Given the description of an element on the screen output the (x, y) to click on. 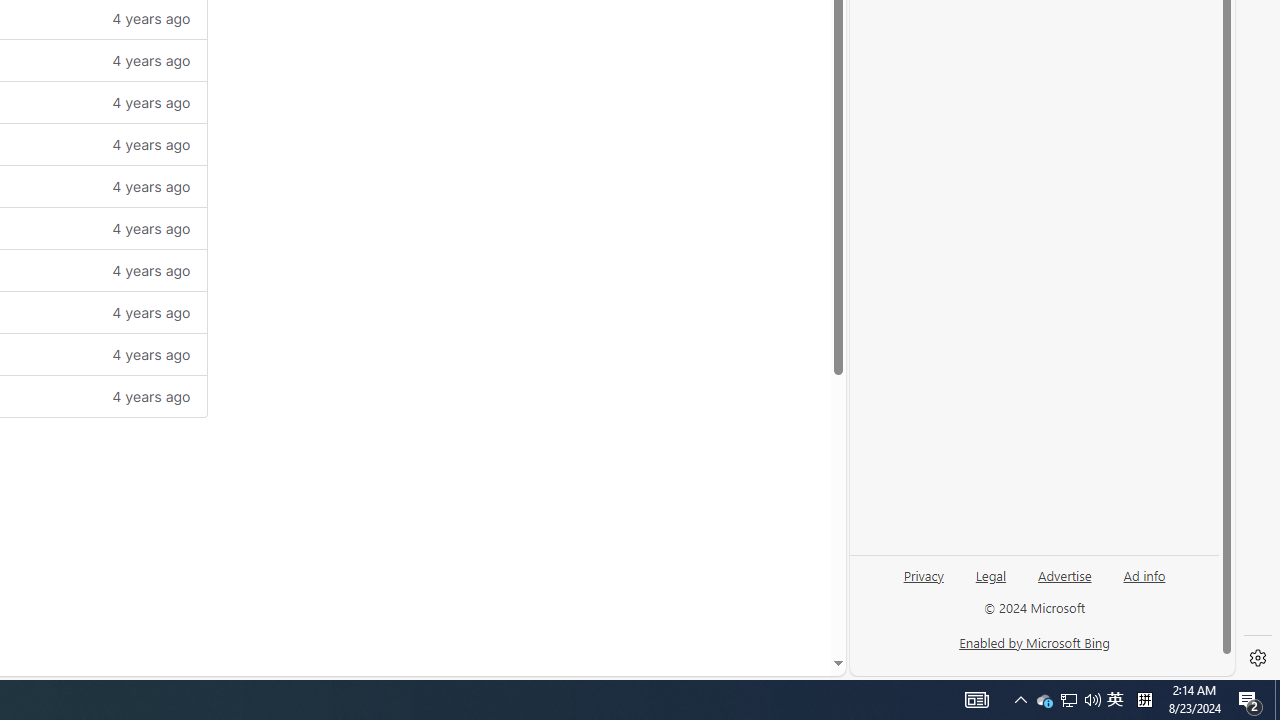
Advertise (1064, 574)
Legal (990, 583)
Ad info (1144, 583)
Legal (991, 574)
Settings (1258, 658)
Advertise (1064, 583)
Privacy (923, 583)
Privacy (923, 574)
Ad info (1144, 574)
